Given the description of an element on the screen output the (x, y) to click on. 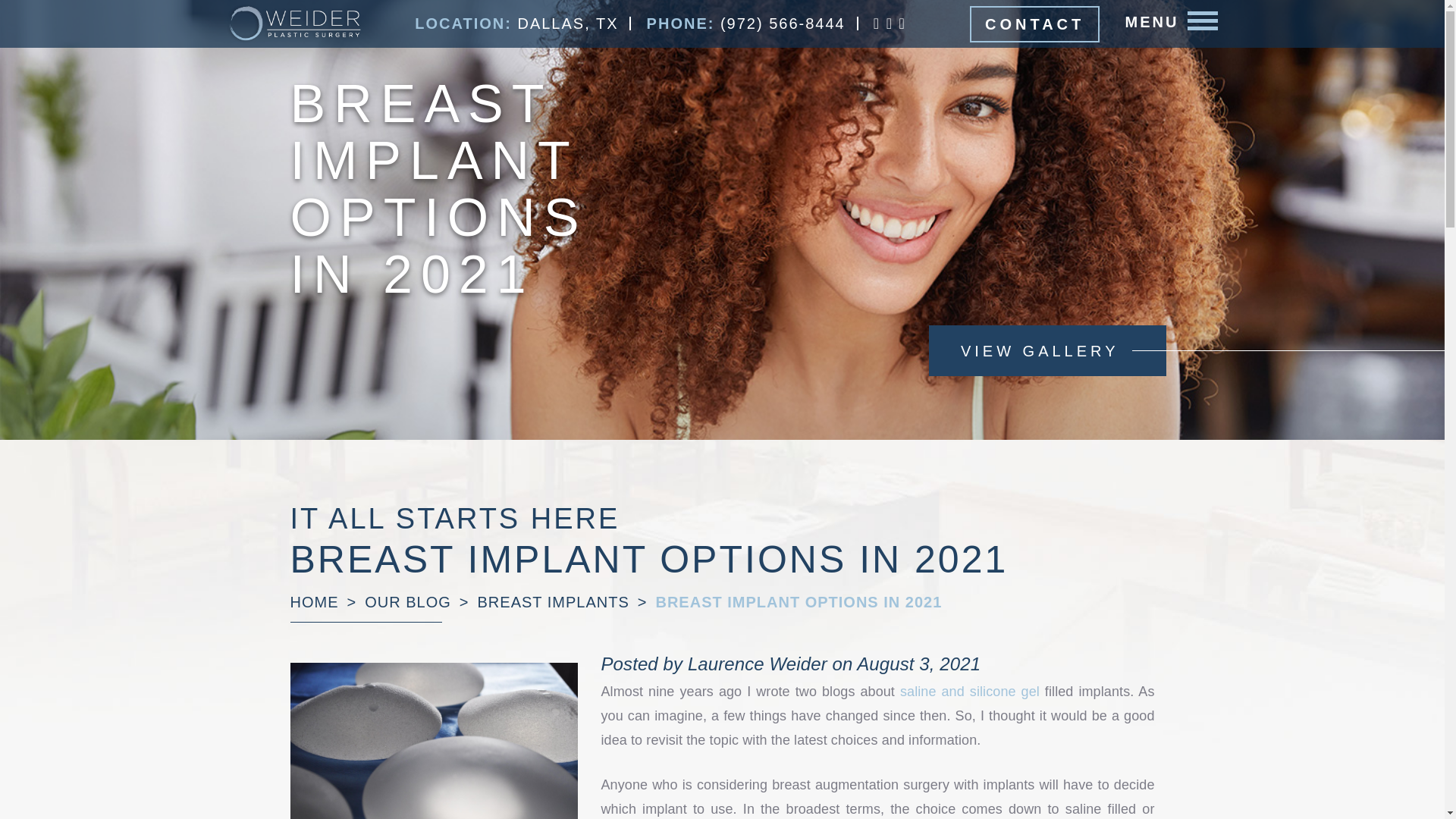
CONTACT (1034, 23)
DALLAS, TX (566, 23)
